Given the description of an element on the screen output the (x, y) to click on. 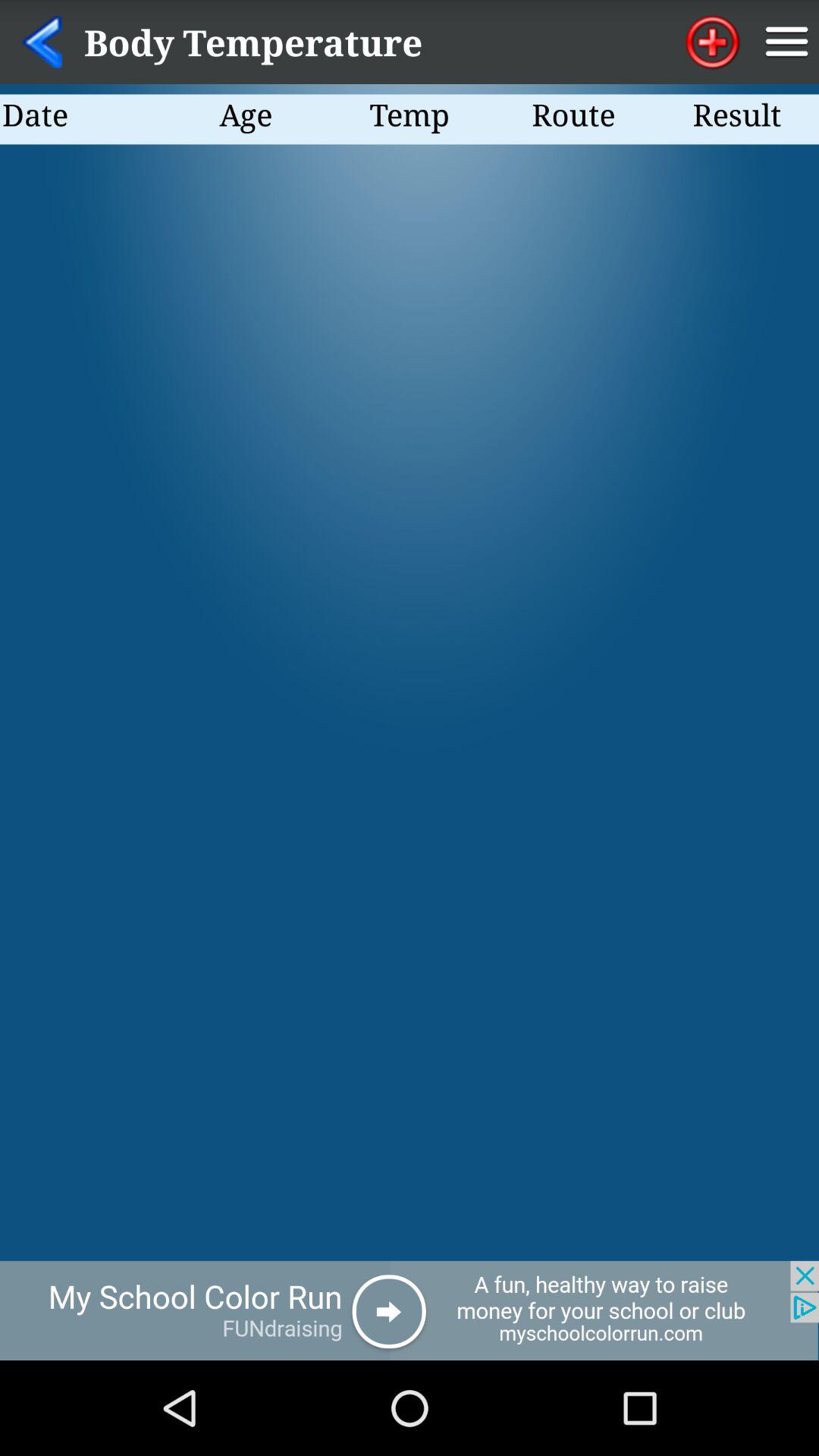
go to back (42, 42)
